Given the description of an element on the screen output the (x, y) to click on. 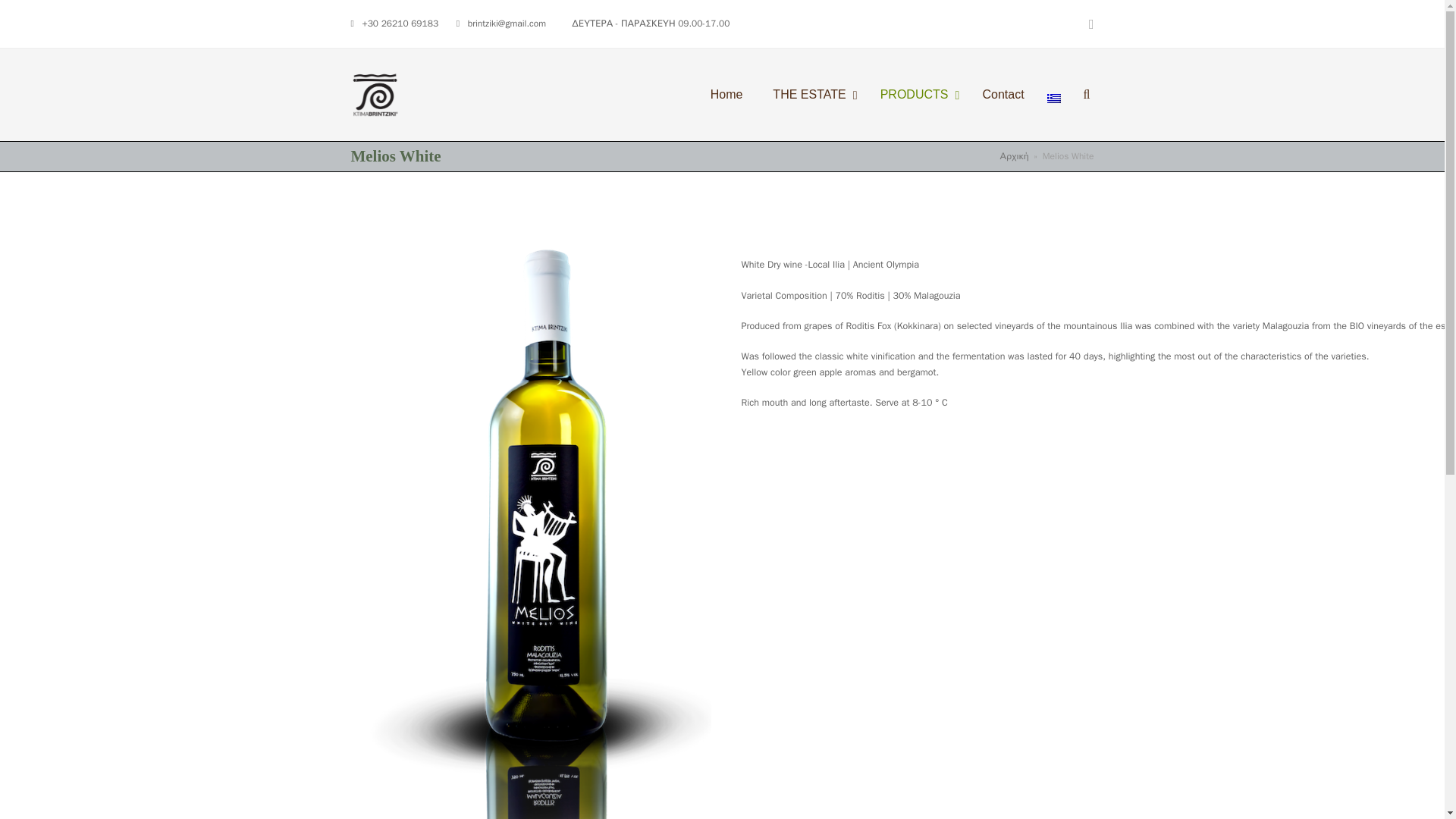
THE ESTATE (810, 95)
Home (726, 95)
PRODUCTS (900, 95)
Facebook (916, 95)
Contact (1091, 23)
